Given the description of an element on the screen output the (x, y) to click on. 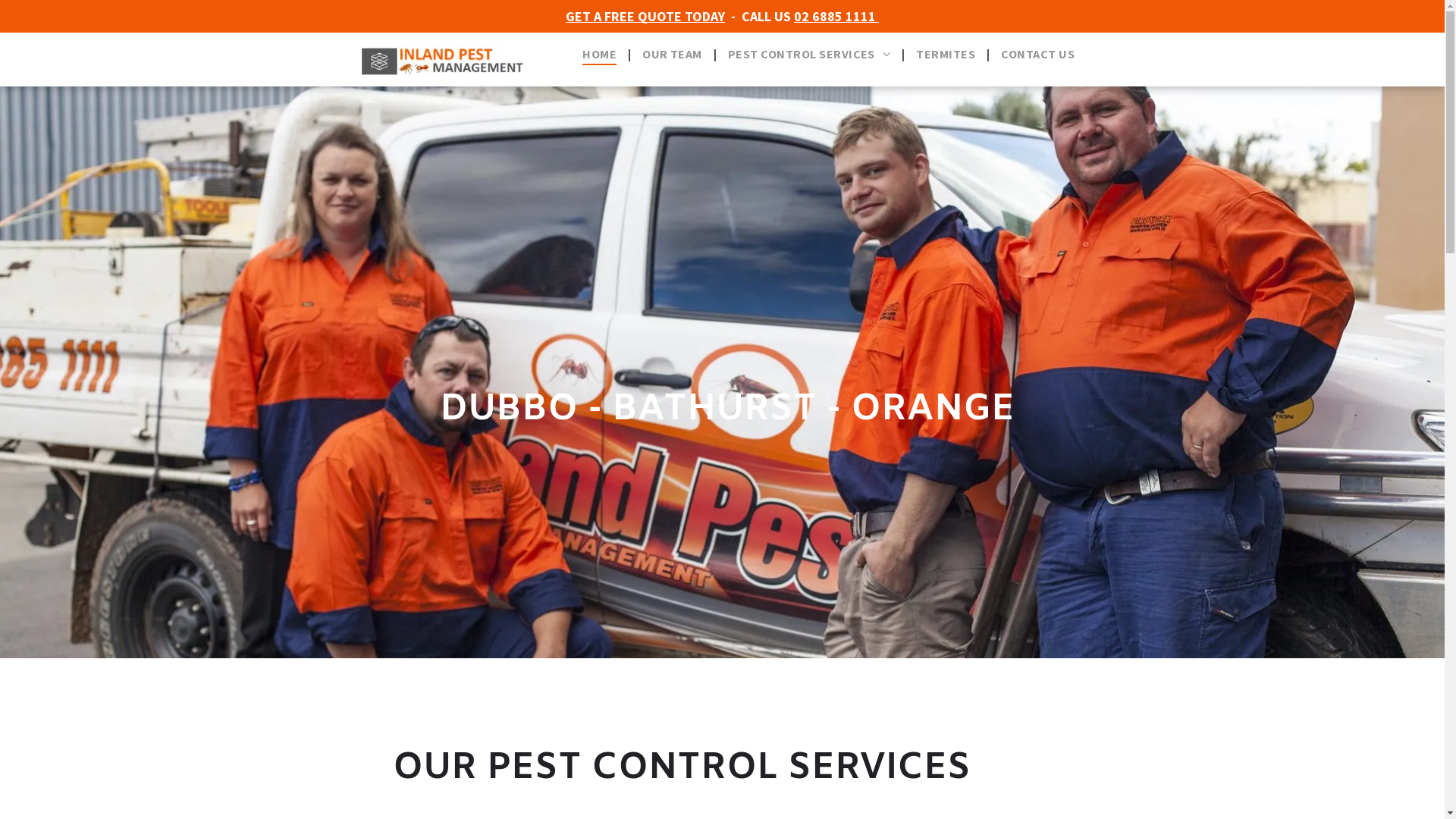
02 6885 1111  Element type: text (835, 16)
PEST CONTROL SERVICES Element type: text (809, 53)
CONTACT US Element type: text (1037, 53)
OUR TEAM Element type: text (671, 53)
GET A FREE QUOTE TODAY Element type: text (644, 16)
TERMITES Element type: text (945, 53)
HOME Element type: text (599, 53)
